Given the description of an element on the screen output the (x, y) to click on. 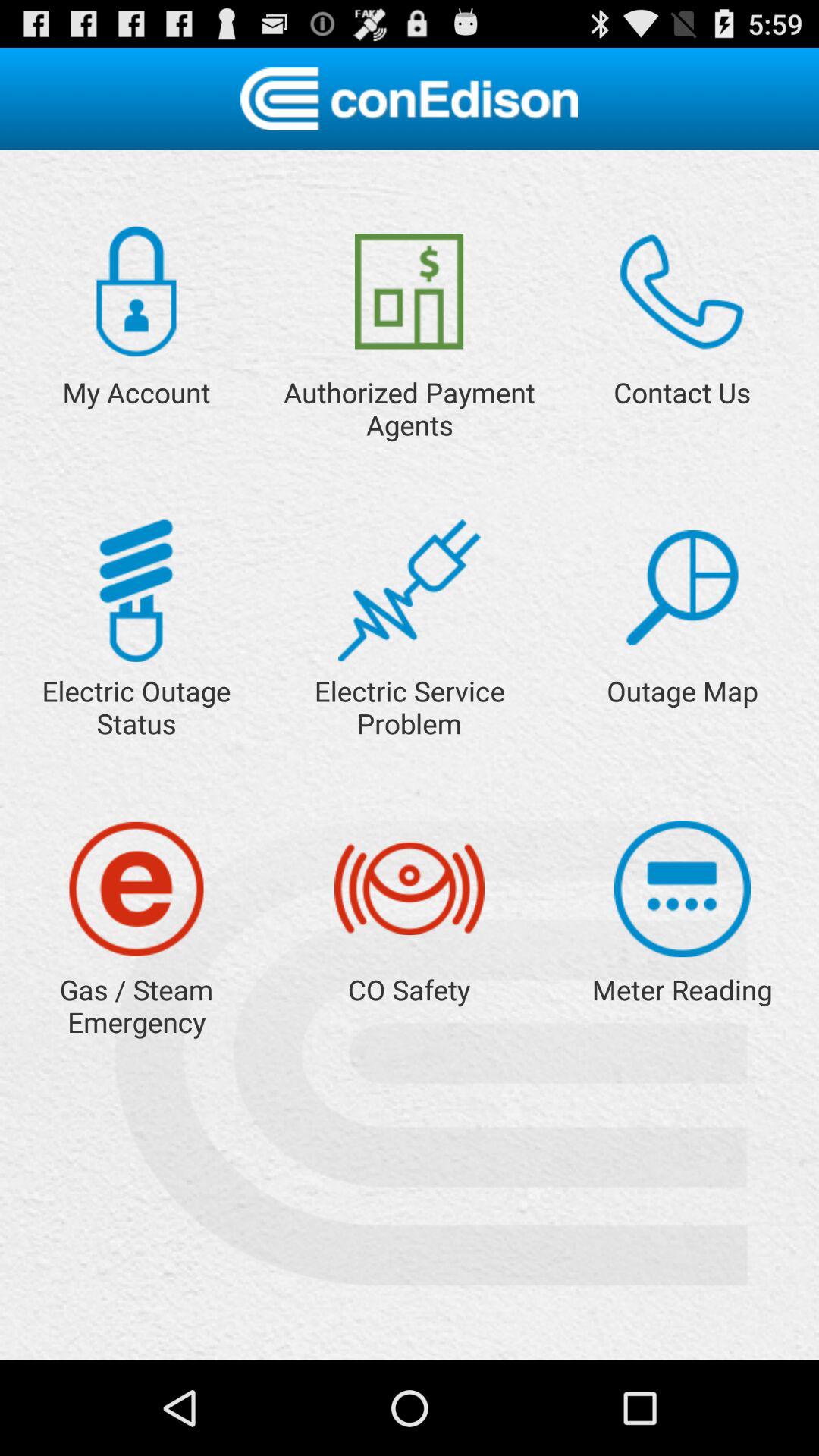
turn on icon above authorized payment agents app (408, 291)
